Given the description of an element on the screen output the (x, y) to click on. 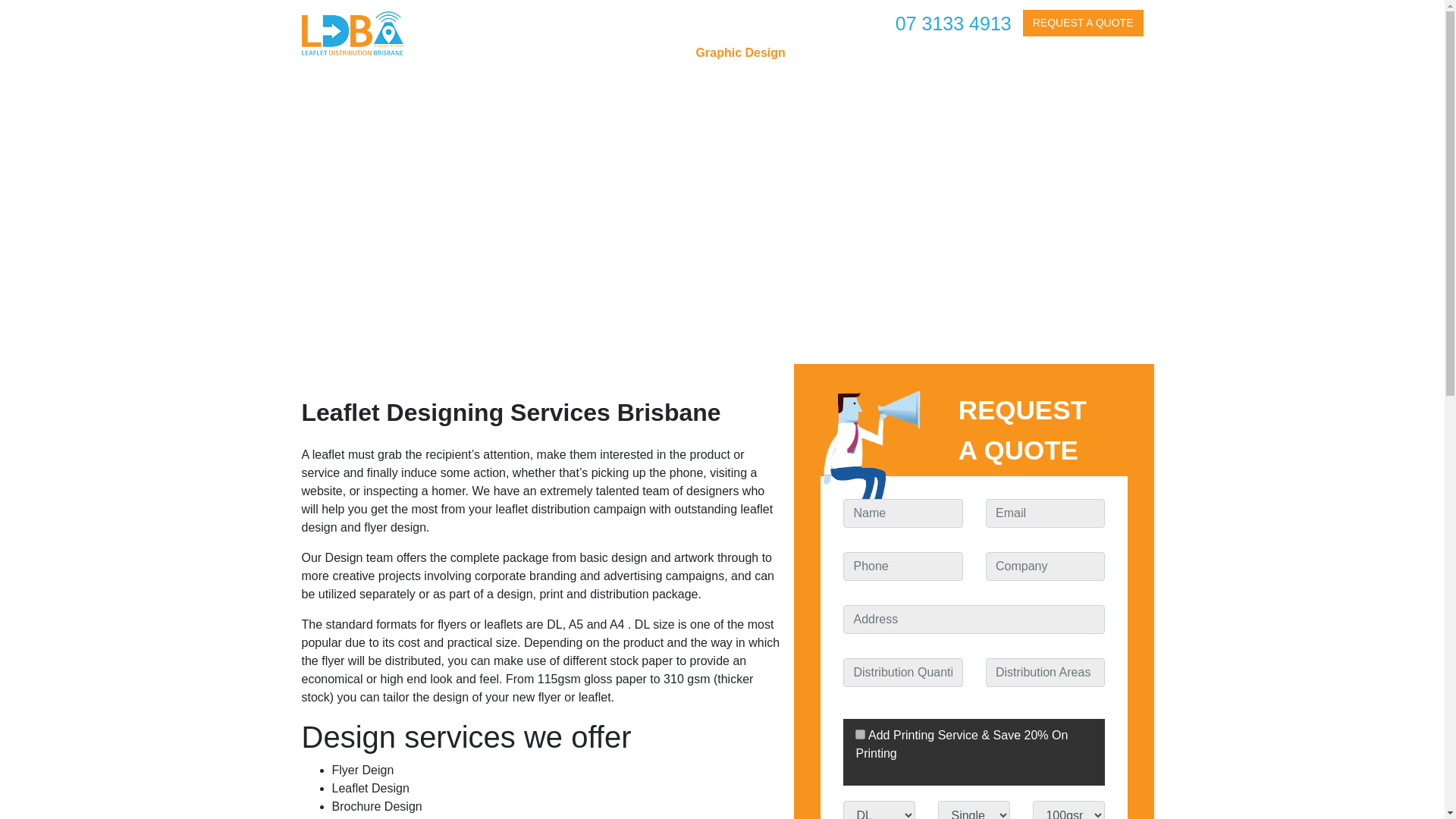
Contact Us (1099, 47)
Printing (829, 47)
REQUEST A QUOTE (1082, 22)
Special Offers (1005, 47)
Printing (829, 47)
Graphic Design (740, 47)
Distribution (909, 47)
Special Offers (1005, 47)
07 3133 4913 (953, 23)
Graphic Design (740, 47)
